Given the description of an element on the screen output the (x, y) to click on. 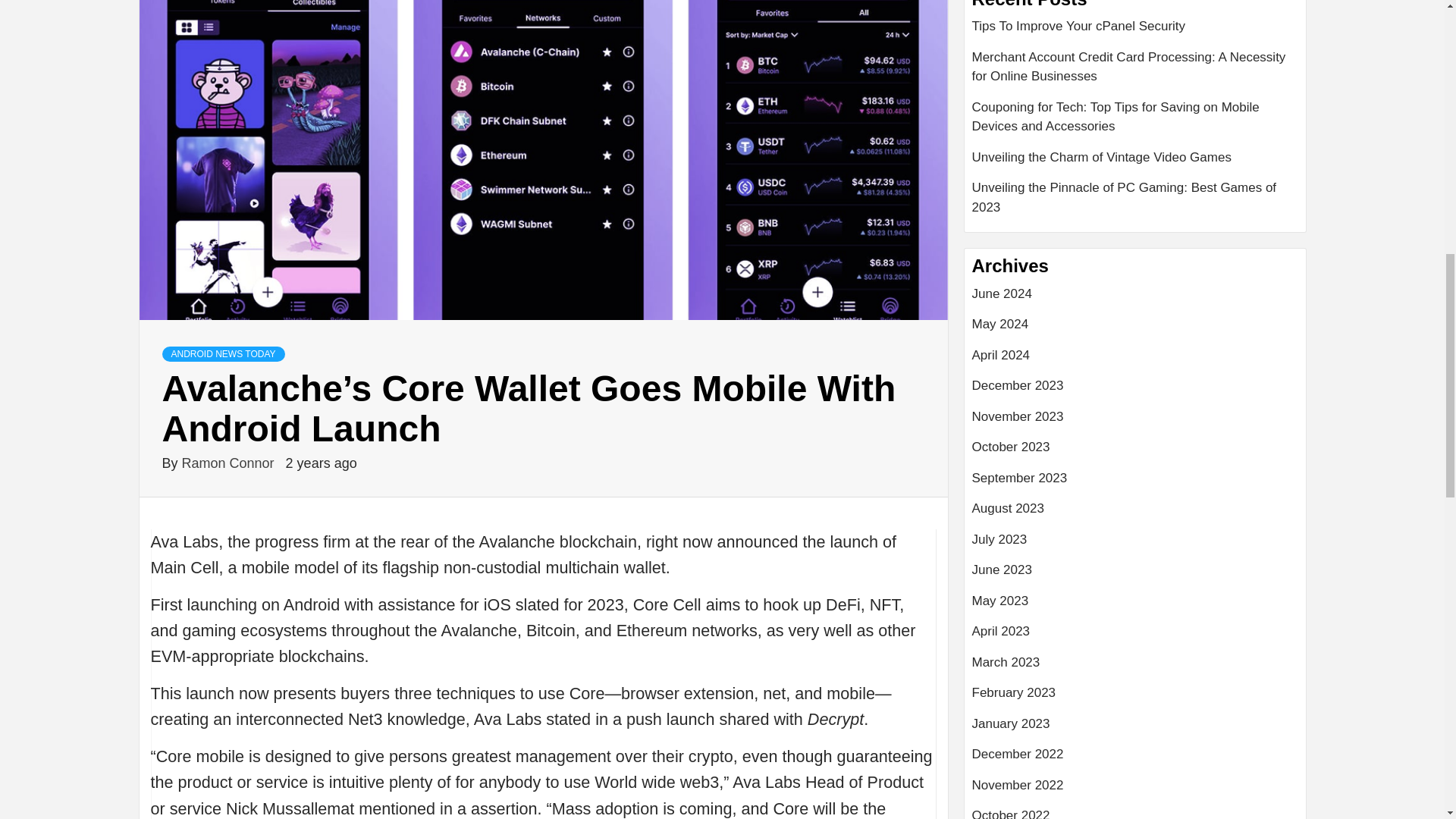
December 2023 (1135, 391)
April 2024 (1135, 360)
ANDROID NEWS TODAY (223, 353)
June 2024 (1135, 299)
Ramon Connor (230, 462)
Tips To Improve Your cPanel Security (1135, 31)
Unveiling the Charm of Vintage Video Games (1135, 163)
May 2024 (1135, 329)
